Given the description of an element on the screen output the (x, y) to click on. 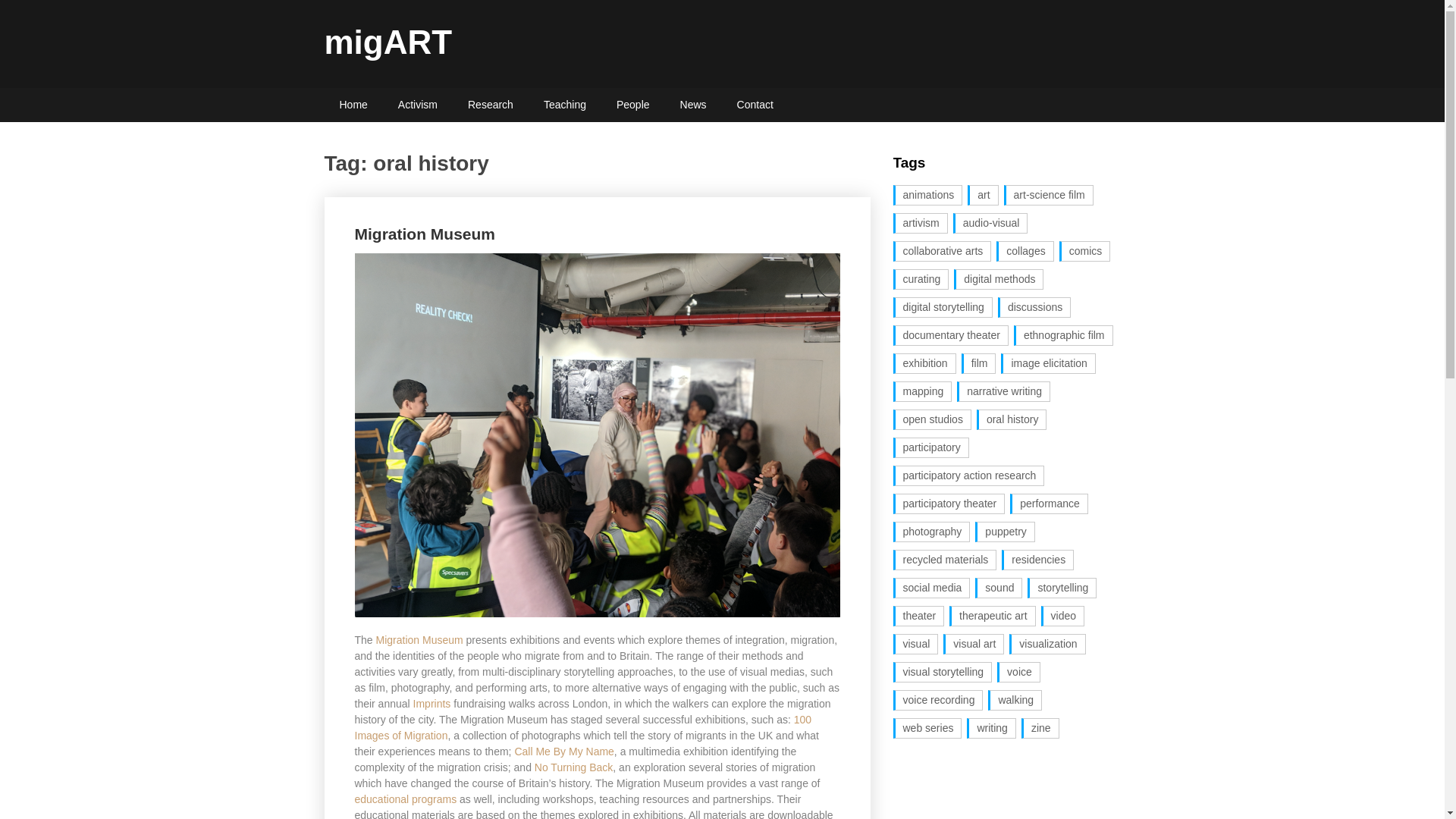
educational programs (406, 799)
art (982, 195)
digital storytelling (942, 307)
Migration Museum (425, 233)
migART (388, 41)
Research (490, 104)
digital methods (998, 279)
art-science film (1048, 195)
Call Me By My Name (562, 751)
collaborative arts (942, 250)
